Given the description of an element on the screen output the (x, y) to click on. 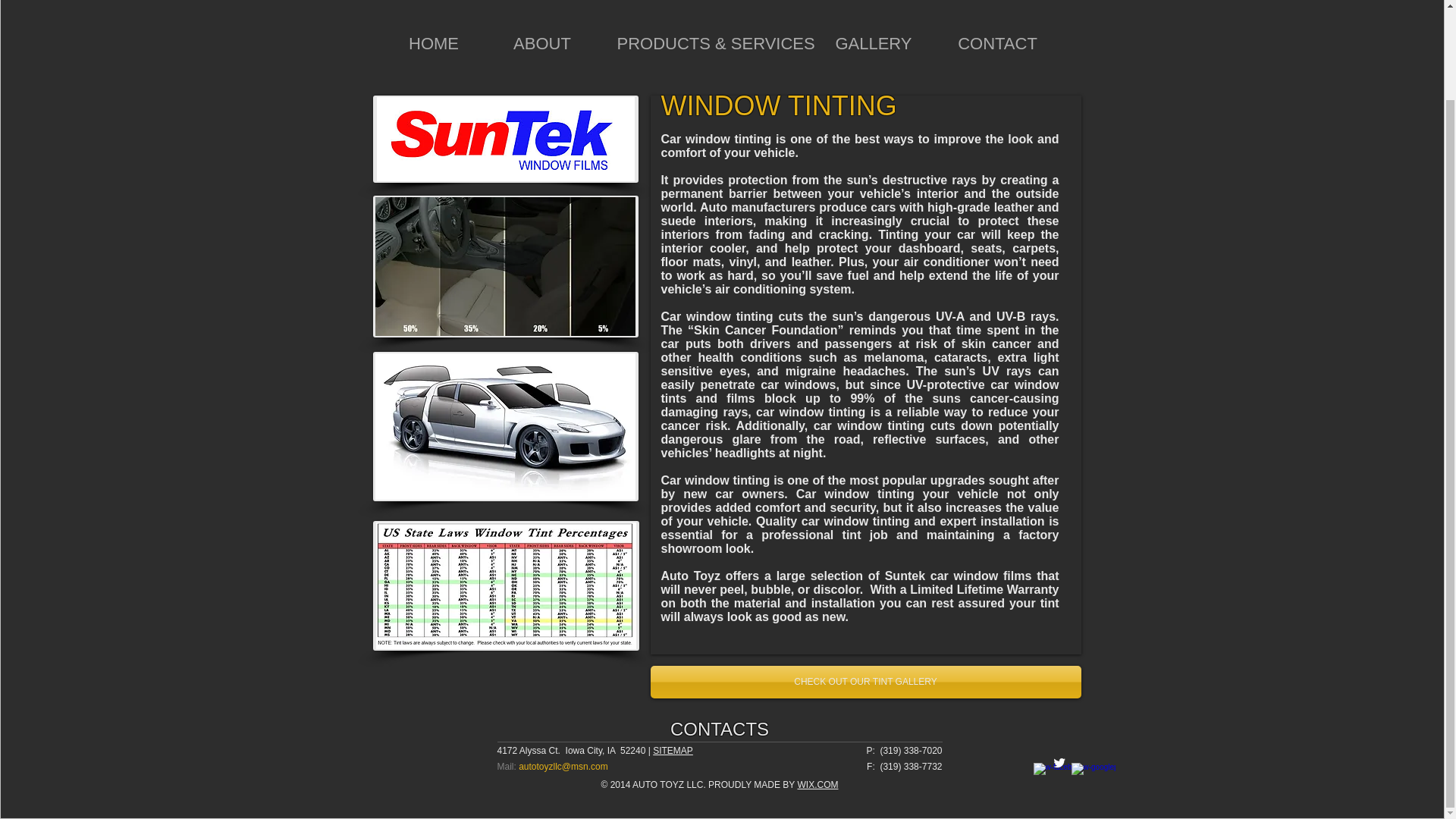
Tint.jpg (505, 426)
Window Tint Shades.jpg 2015-3-2-13:20:45 (505, 266)
Suntek Logo.png (505, 138)
HOME (433, 48)
SITEMAP (672, 750)
Tint Laws.jpg (505, 585)
WIX.COM (817, 784)
CONTACT (997, 48)
CHECK OUT OUR TINT GALLERY (865, 681)
GALLERY (872, 48)
